Given the description of an element on the screen output the (x, y) to click on. 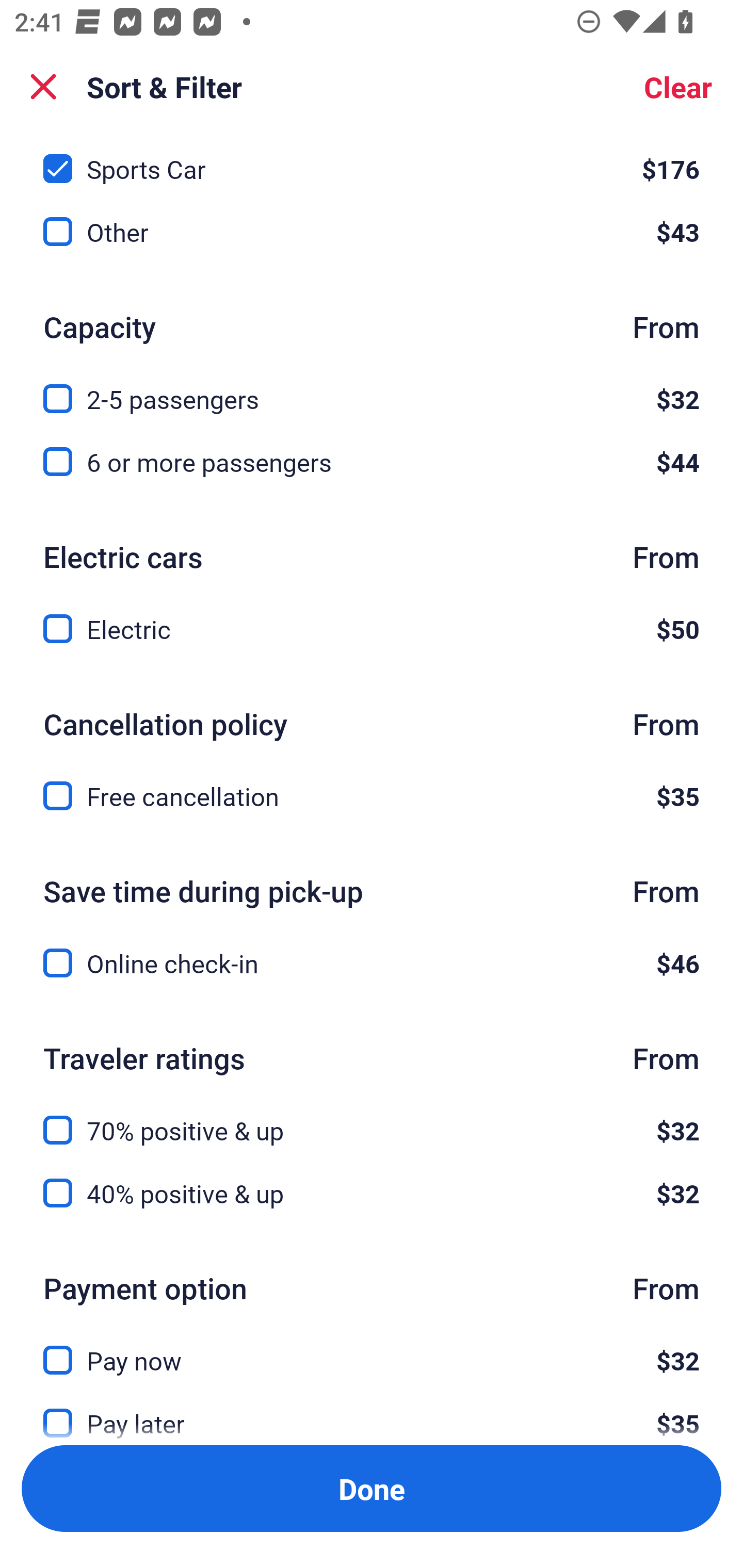
Close Sort and Filter (43, 86)
Clear (677, 86)
Sports Car, $176 Sports Car $176 (371, 159)
Other, $43 Other $43 (371, 231)
2-5 passengers, $32 2-5 passengers $32 (371, 386)
6 or more passengers, $44 6 or more passengers $44 (371, 461)
Electric, $50 Electric $50 (371, 629)
Free cancellation, $35 Free cancellation $35 (371, 796)
Online check-in, $46 Online check-in $46 (371, 963)
70% positive & up, $32 70% positive & up $32 (371, 1118)
40% positive & up, $32 40% positive & up $32 (371, 1193)
Pay now, $32 Pay now $32 (371, 1348)
Pay later, $35 Pay later $35 (371, 1412)
Apply and close Sort and Filter Done (371, 1488)
